Given the description of an element on the screen output the (x, y) to click on. 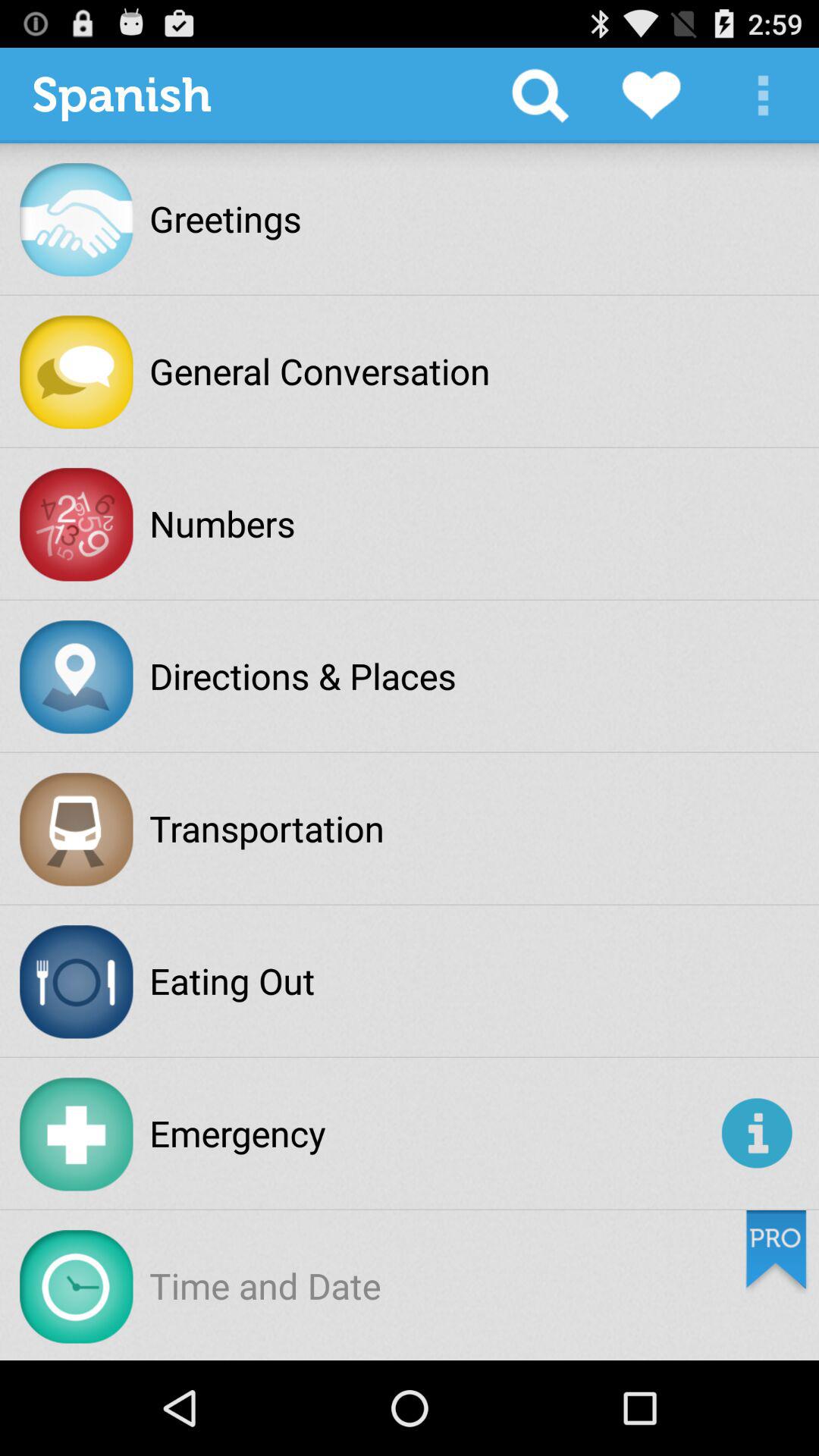
press transportation icon (266, 828)
